Given the description of an element on the screen output the (x, y) to click on. 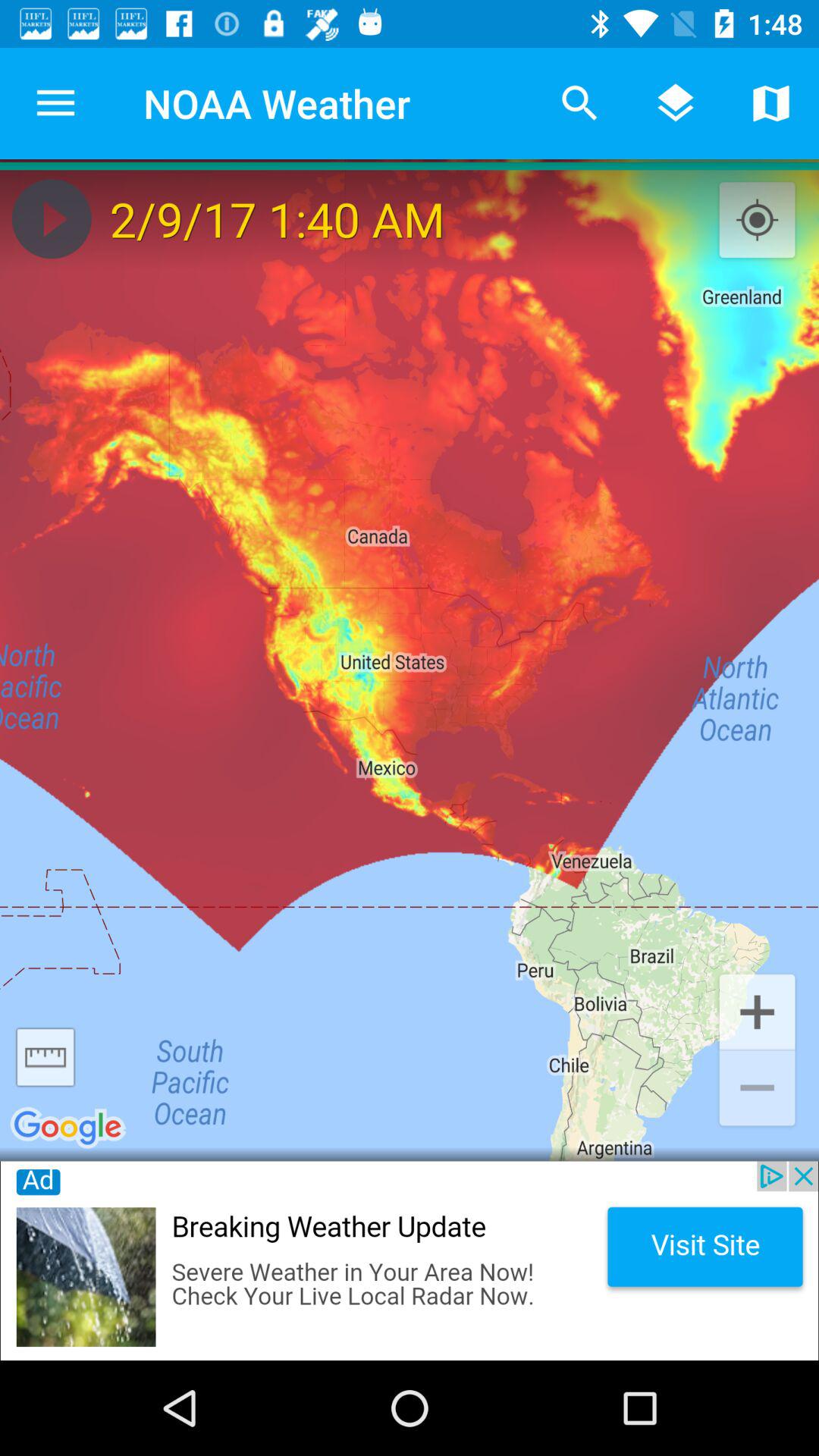
play the map (51, 218)
